Given the description of an element on the screen output the (x, y) to click on. 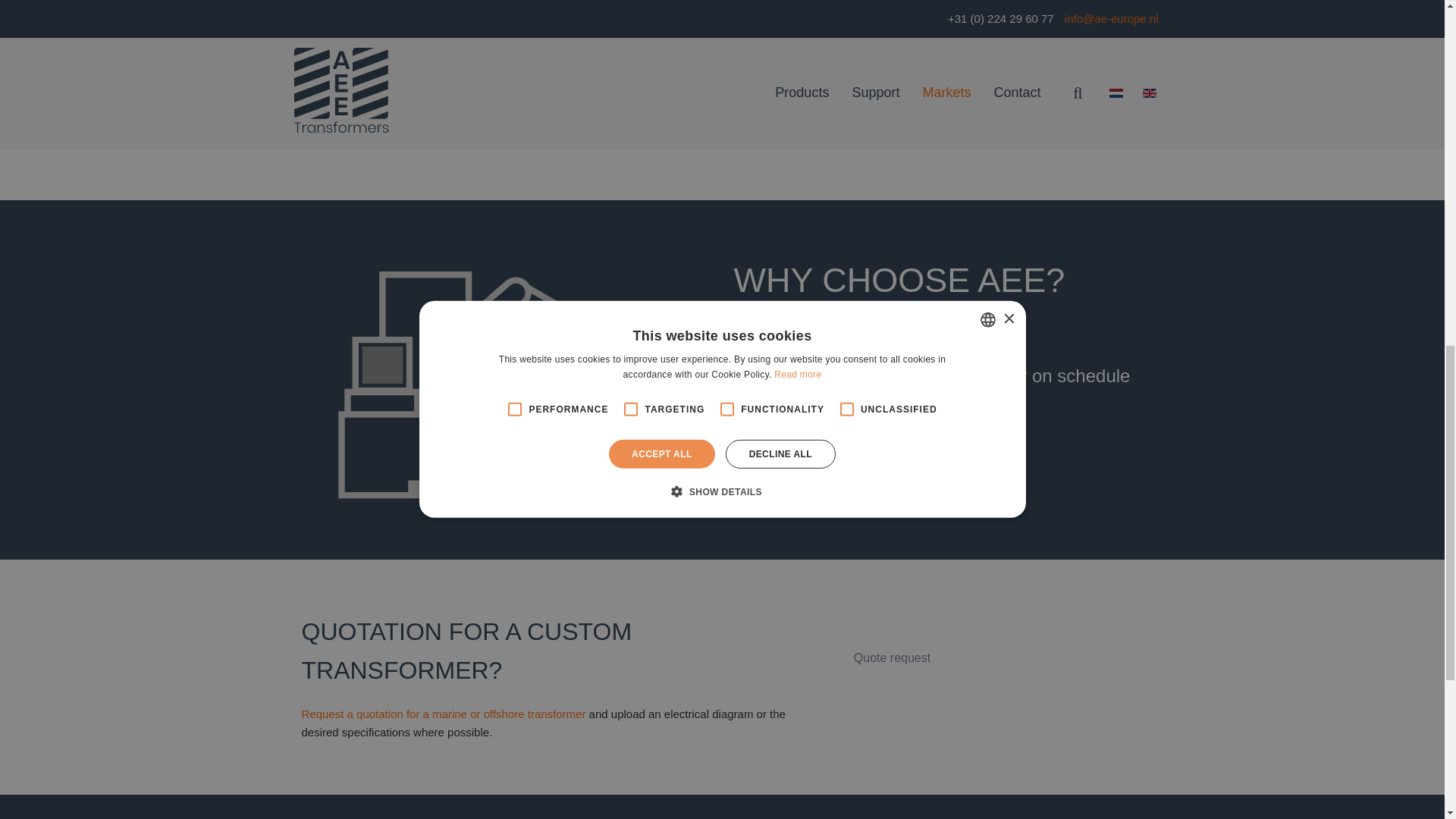
More about AEE (805, 471)
Quote request (892, 645)
rectifiers (547, 78)
More about AEE (805, 483)
rectifiers (547, 78)
Quote request (892, 657)
